Given the description of an element on the screen output the (x, y) to click on. 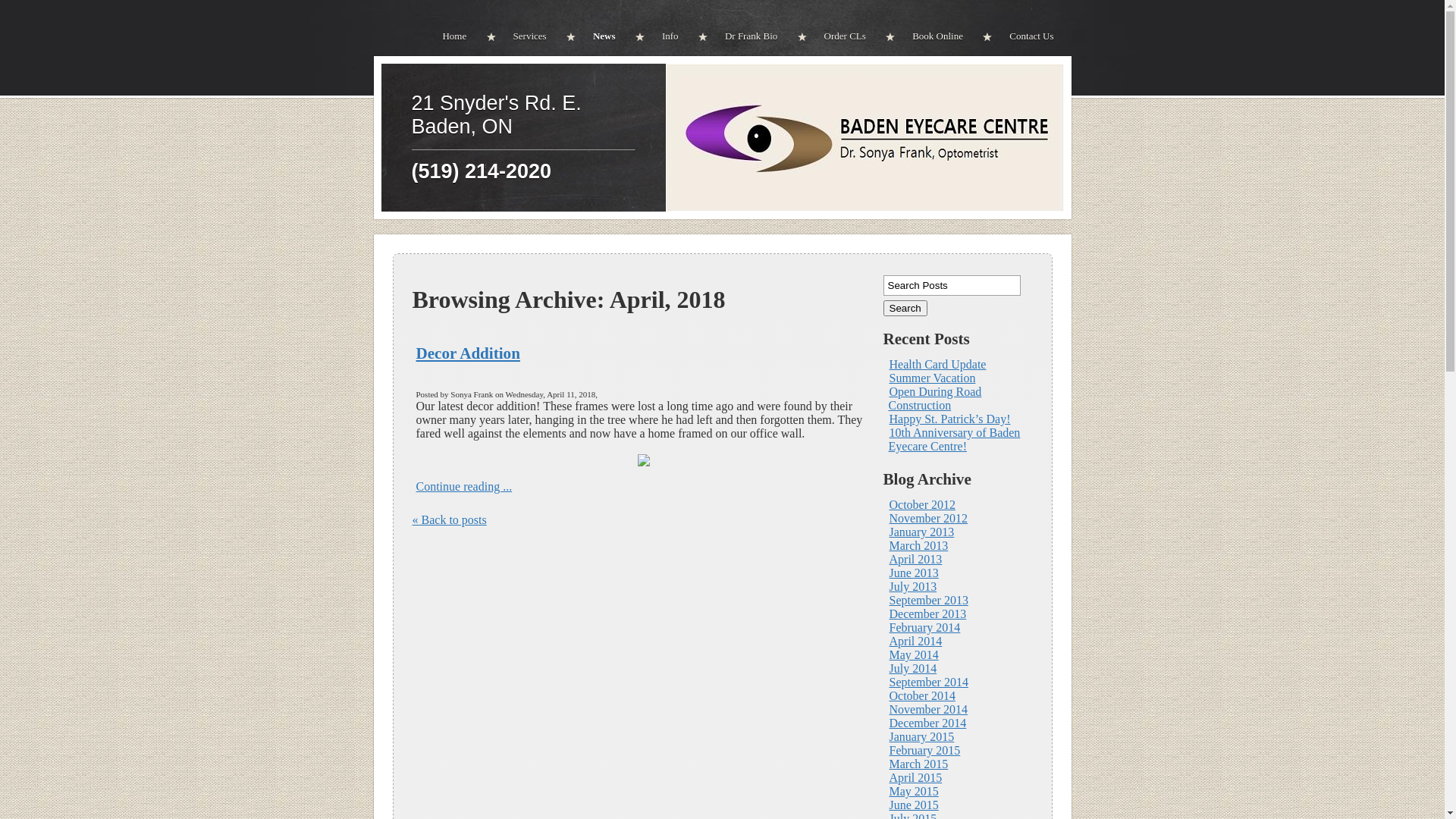
Continue reading ... Element type: text (463, 486)
10th Anniversary of Baden Eyecare Centre! Element type: text (954, 439)
April 2014 Element type: text (914, 640)
Home Element type: text (462, 36)
May 2015 Element type: text (913, 790)
January 2013 Element type: text (920, 531)
February 2015 Element type: text (924, 749)
June 2013 Element type: text (913, 572)
May 2014 Element type: text (913, 654)
Decor Addition Element type: text (467, 353)
April 2013 Element type: text (914, 558)
December 2014 Element type: text (927, 722)
Summer Vacation Element type: text (931, 377)
October 2012 Element type: text (921, 504)
September 2014 Element type: text (927, 681)
Health Card Update Element type: text (936, 363)
July 2014 Element type: text (912, 668)
October 2014 Element type: text (921, 695)
April 2015 Element type: text (914, 777)
July 2013 Element type: text (912, 586)
September 2013 Element type: text (927, 599)
January 2015 Element type: text (920, 736)
March 2015 Element type: text (917, 763)
March 2013 Element type: text (917, 545)
February 2014 Element type: text (924, 627)
Info Element type: text (665, 36)
Order CLs Element type: text (840, 36)
November 2012 Element type: text (927, 517)
Services Element type: text (525, 36)
21 Snyder's Rd. E.
Baden, ON
(519) 214-2020 Element type: text (522, 136)
November 2014 Element type: text (927, 708)
Search Element type: text (904, 308)
December 2013 Element type: text (927, 613)
June 2015 Element type: text (913, 804)
Contact Us Element type: text (1026, 36)
Book Online Element type: text (932, 36)
Dr Frank Bio Element type: text (746, 36)
Search Posts Element type: text (950, 285)
News Element type: text (599, 36)
Open During Road Construction Element type: text (935, 398)
